Given the description of an element on the screen output the (x, y) to click on. 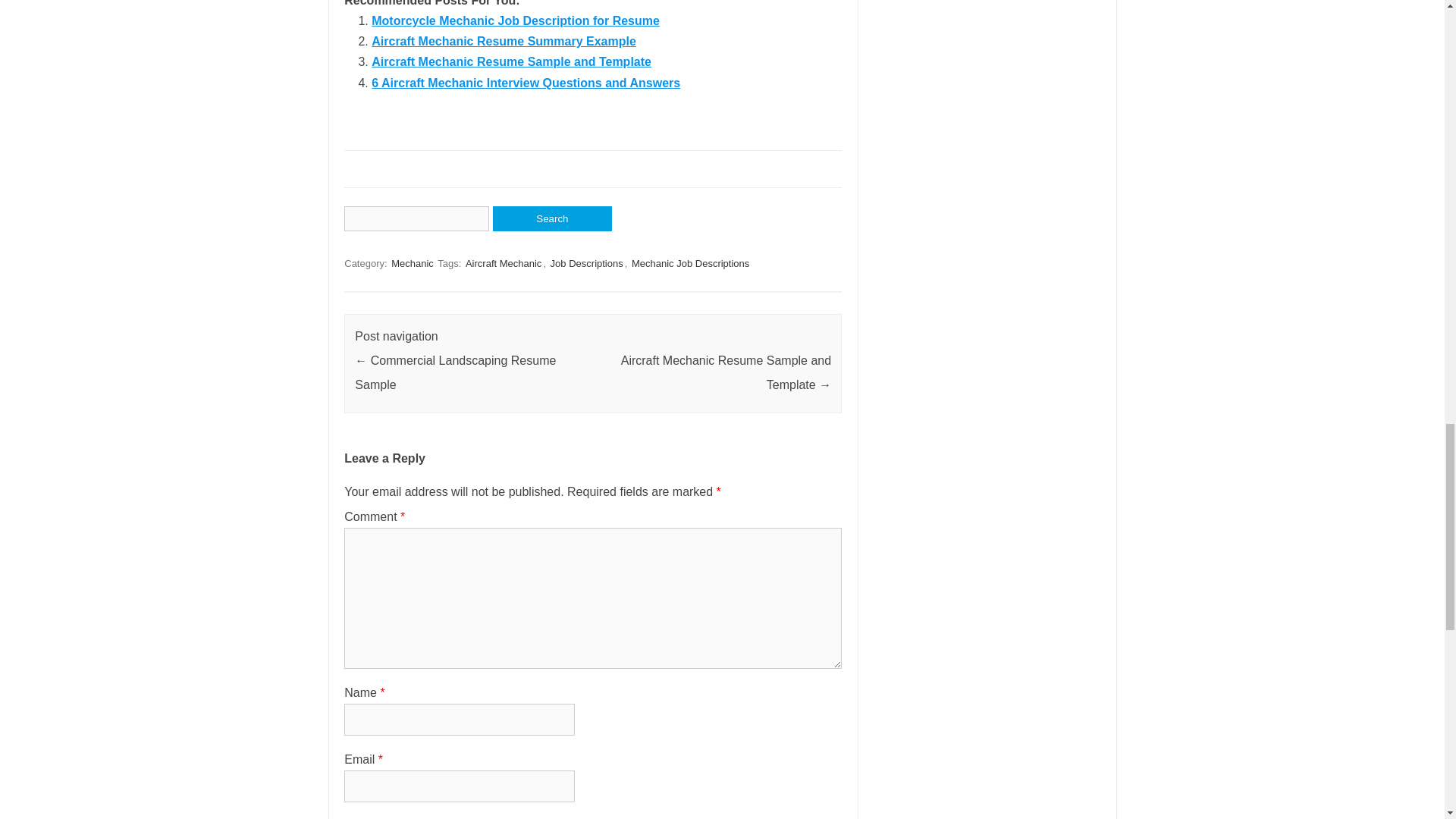
Aircraft Mechanic Resume Summary Example (503, 41)
Aircraft Mechanic Resume Sample and Template (510, 61)
6 Aircraft Mechanic Interview Questions and Answers (525, 82)
Search (552, 218)
Aircraft Mechanic Resume Summary Example (503, 41)
Job Descriptions (586, 263)
Aircraft Mechanic (503, 263)
Aircraft Mechanic Resume Sample and Template (510, 61)
Search (552, 218)
Motorcycle Mechanic Job Description for Resume (515, 20)
Mechanic (412, 263)
Mechanic Job Descriptions (690, 263)
Motorcycle Mechanic Job Description for Resume (515, 20)
6 Aircraft Mechanic Interview Questions and Answers (525, 82)
